Given the description of an element on the screen output the (x, y) to click on. 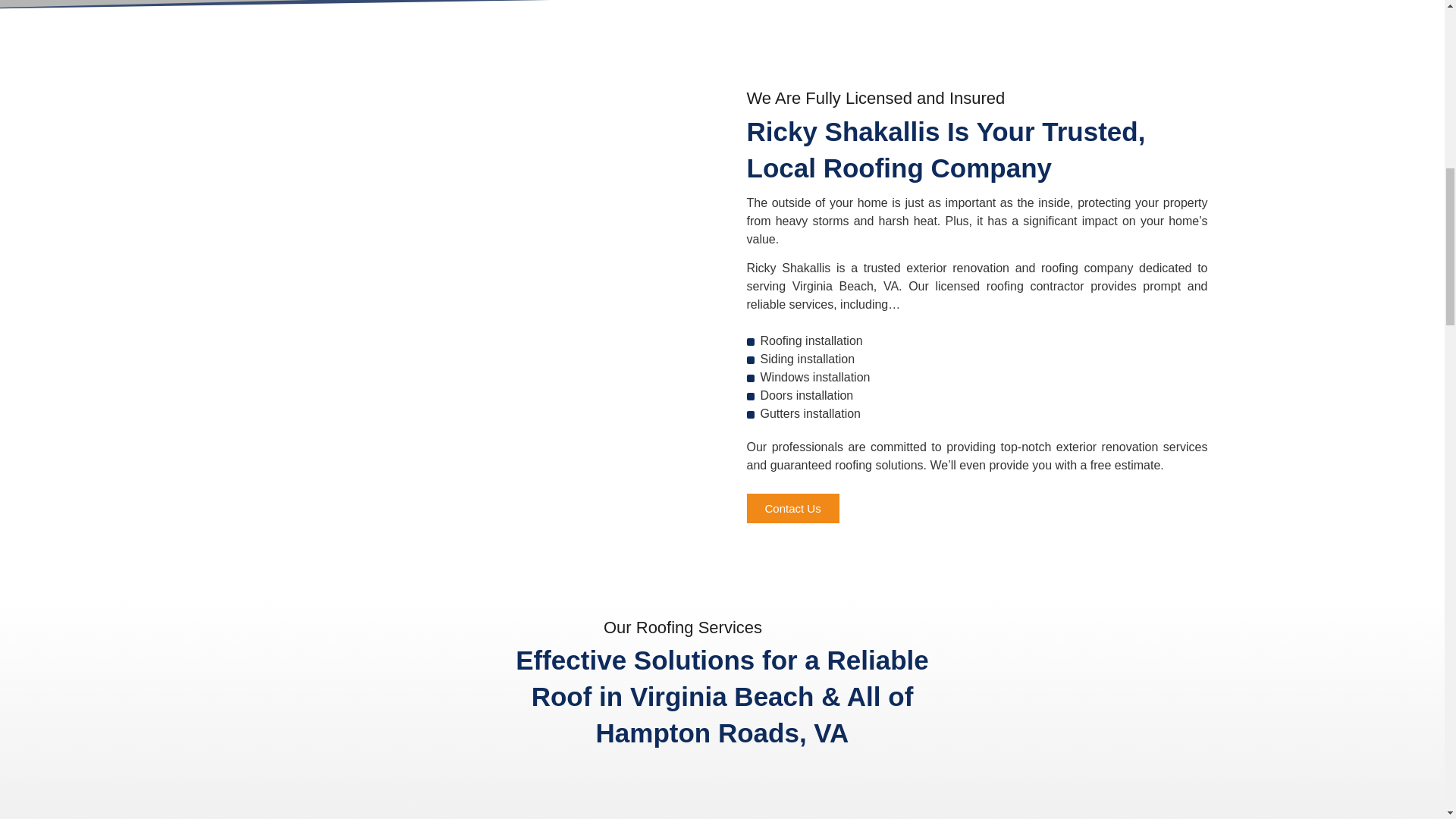
Contact Us (791, 508)
